Given the description of an element on the screen output the (x, y) to click on. 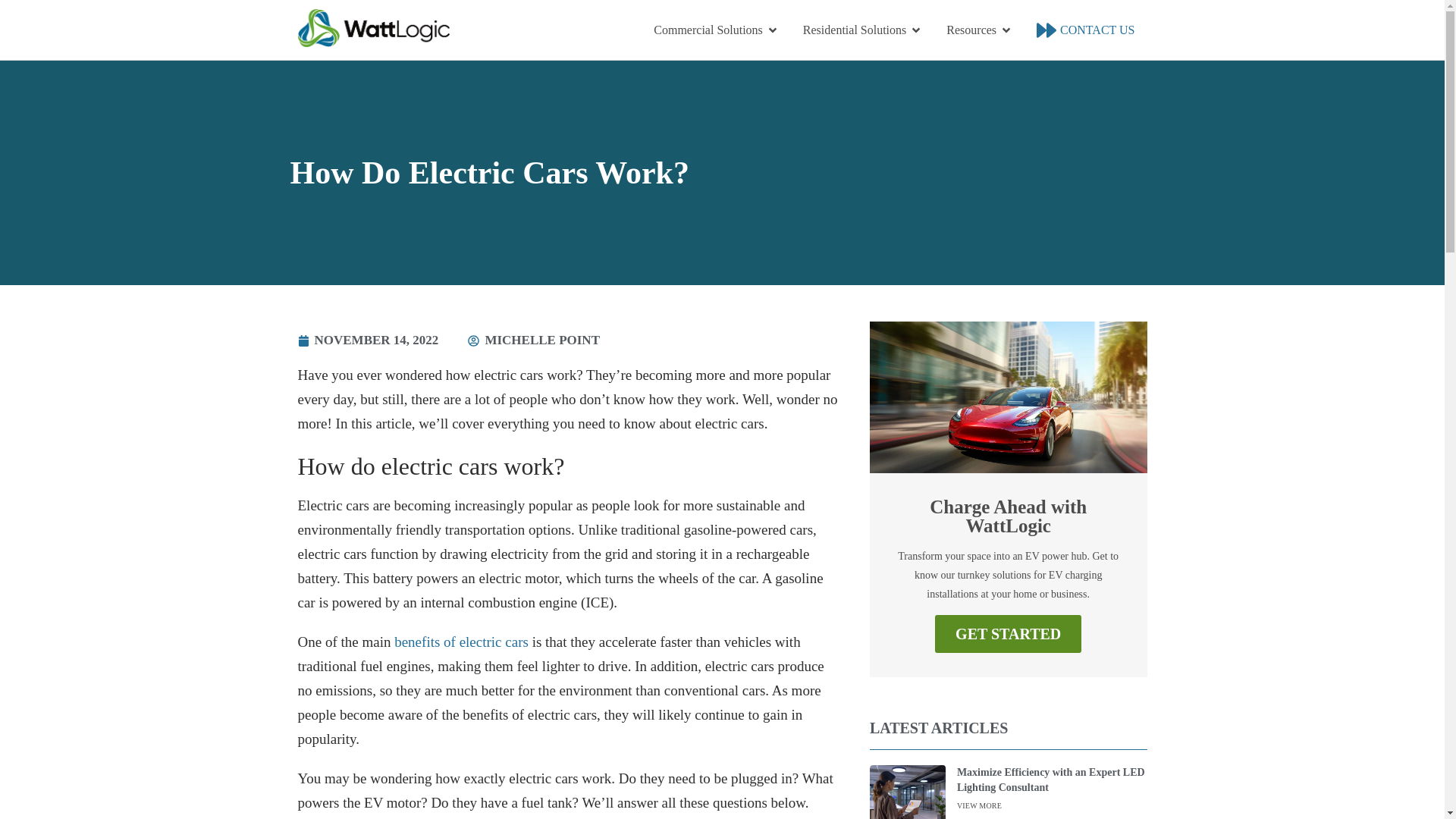
MICHELLE POINT (533, 340)
benefits of electric cars (461, 641)
CONTACT US (1096, 30)
